Given the description of an element on the screen output the (x, y) to click on. 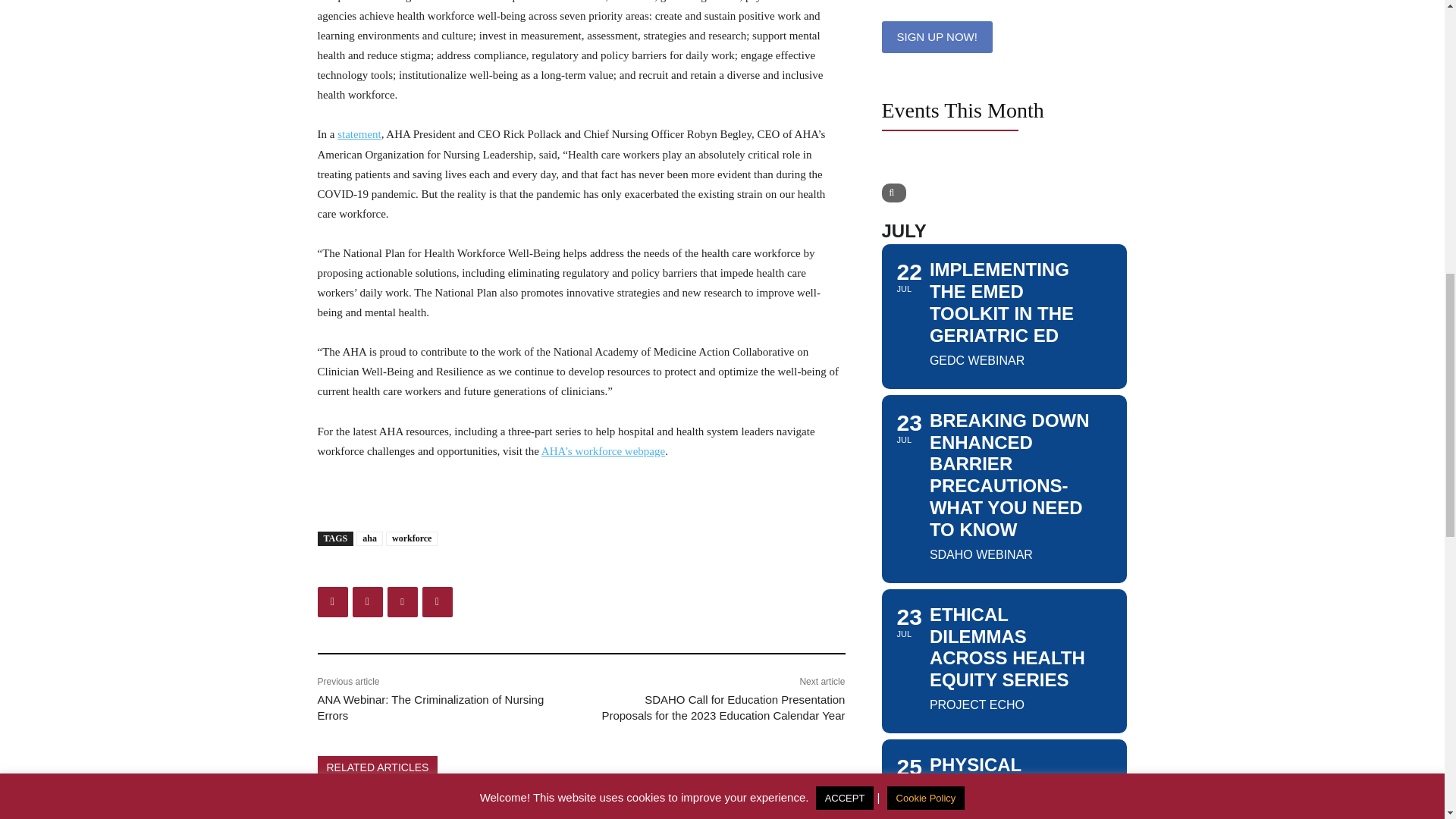
Facebook (332, 602)
